Given the description of an element on the screen output the (x, y) to click on. 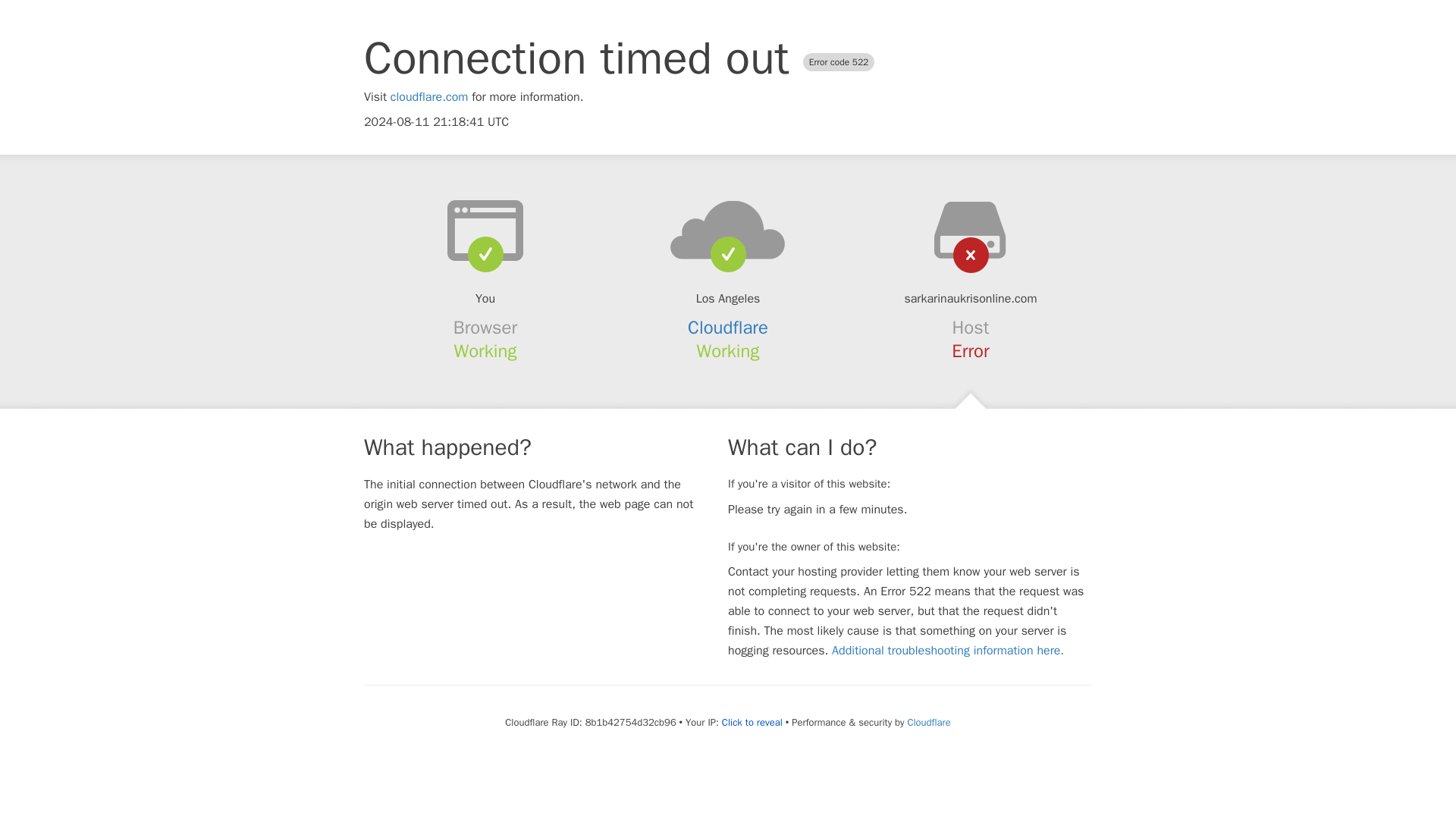
Cloudflare (727, 327)
Click to reveal (752, 722)
cloudflare.com (429, 96)
Additional troubleshooting information here. (947, 650)
Cloudflare (928, 721)
